Given the description of an element on the screen output the (x, y) to click on. 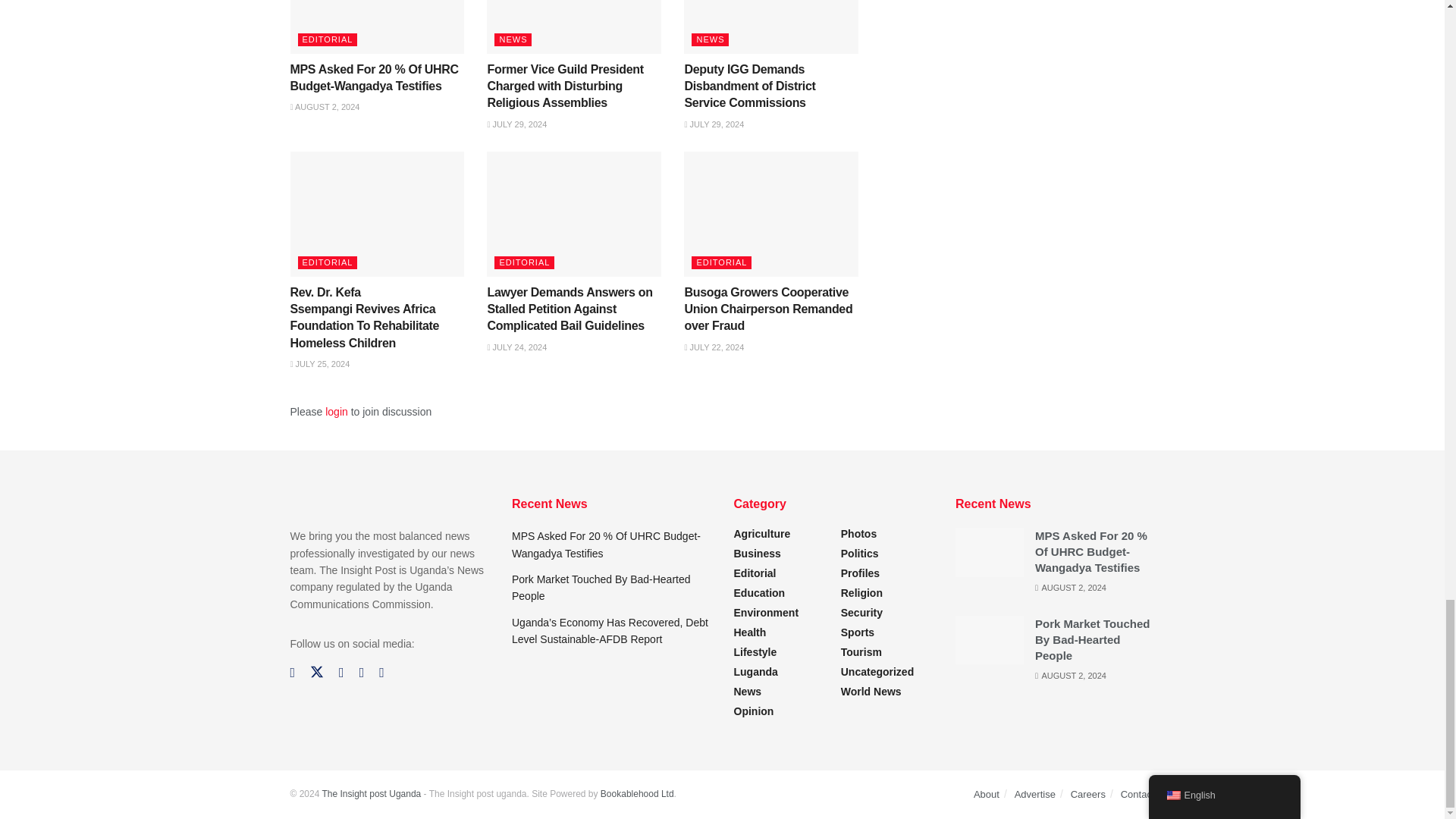
Bookablehood Ltd (636, 793)
The Insight post Uganda (370, 793)
